Given the description of an element on the screen output the (x, y) to click on. 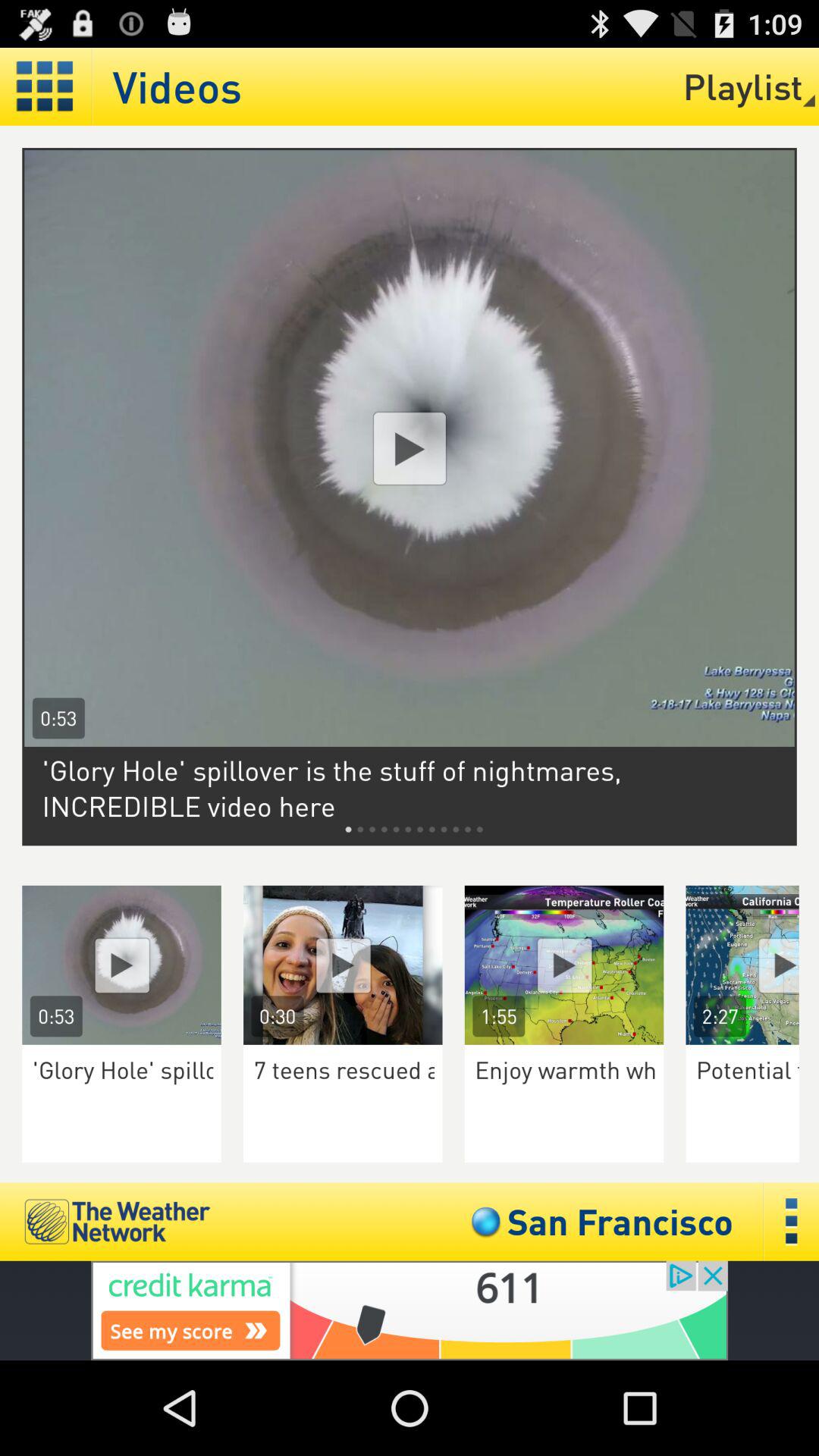
launch video (752, 964)
